Given the description of an element on the screen output the (x, y) to click on. 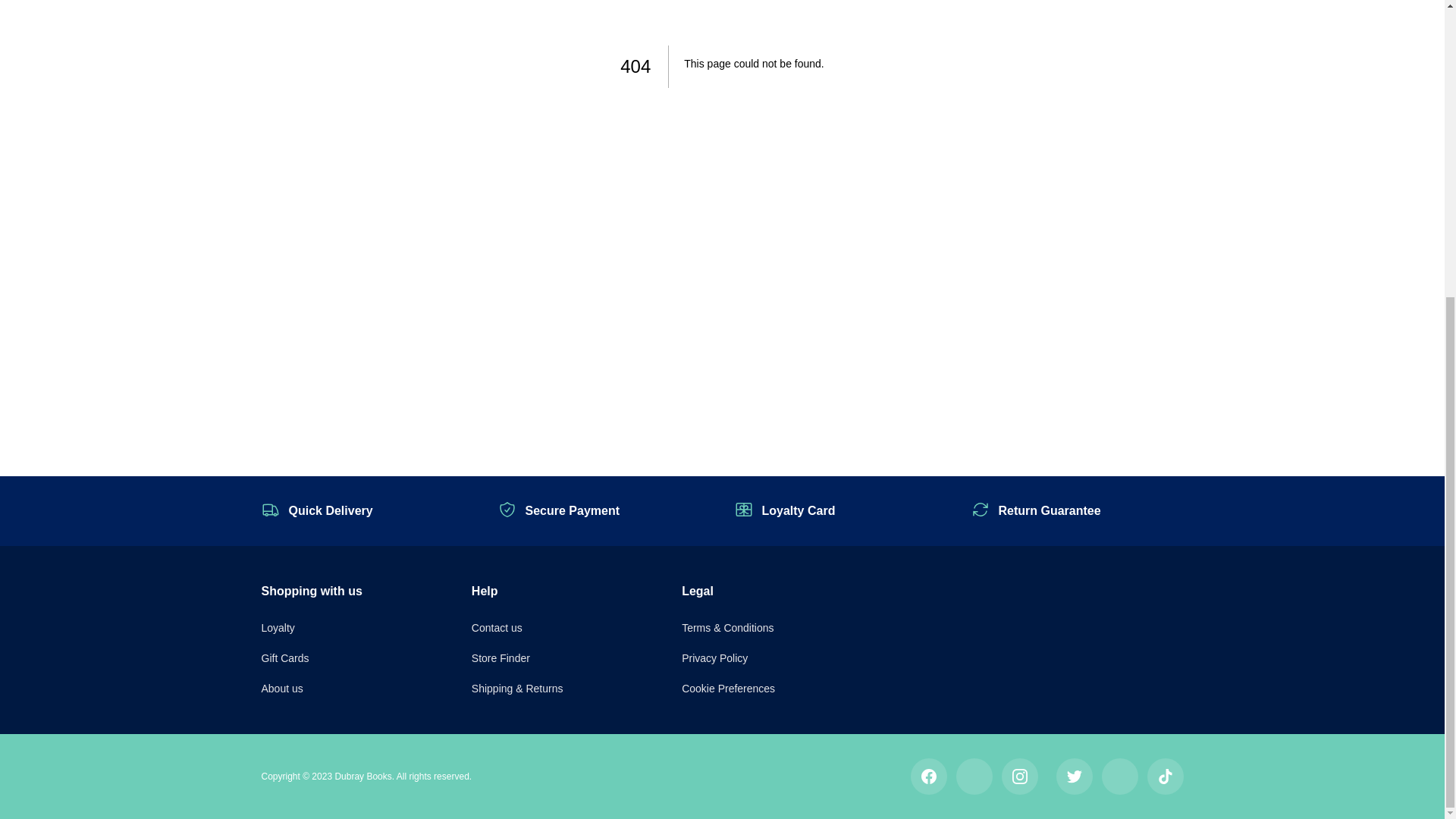
TikTok (1164, 776)
Loyalty (277, 627)
Facebook (928, 776)
About us (281, 688)
Twitter (1073, 776)
Store Finder (500, 657)
Cookie Preferences (727, 688)
Privacy Policy (714, 657)
Gift Cards (284, 657)
Instagram (1018, 776)
